Given the description of an element on the screen output the (x, y) to click on. 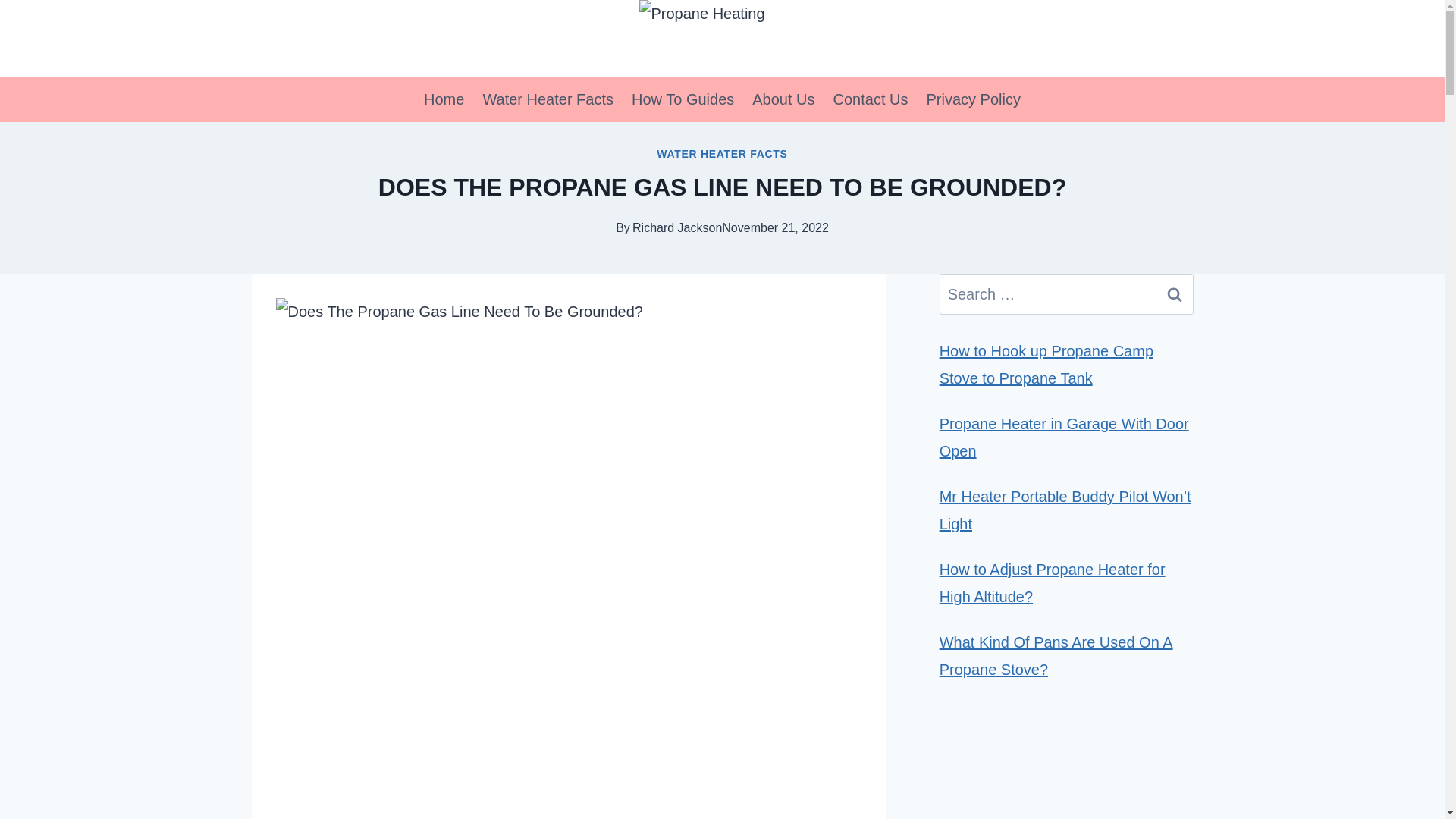
WATER HEATER FACTS (721, 153)
Privacy Policy (973, 99)
About Us (783, 99)
Water Heater Facts (548, 99)
Search (1174, 293)
Richard Jackson (676, 227)
How To Guides (682, 99)
Contact Us (870, 99)
Home (443, 99)
Search (1174, 293)
